Given the description of an element on the screen output the (x, y) to click on. 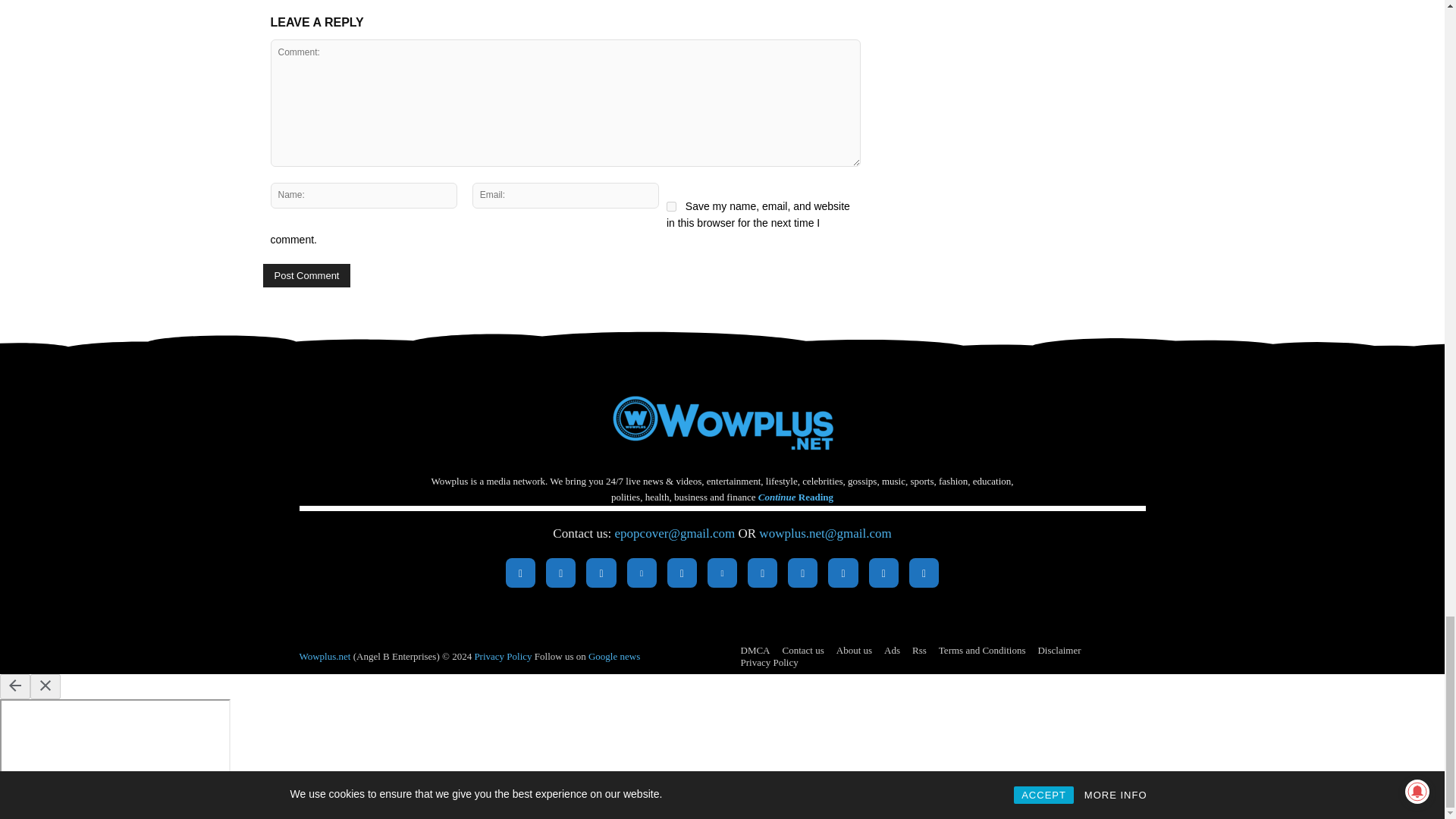
Post Comment (306, 275)
yes (671, 206)
